Given the description of an element on the screen output the (x, y) to click on. 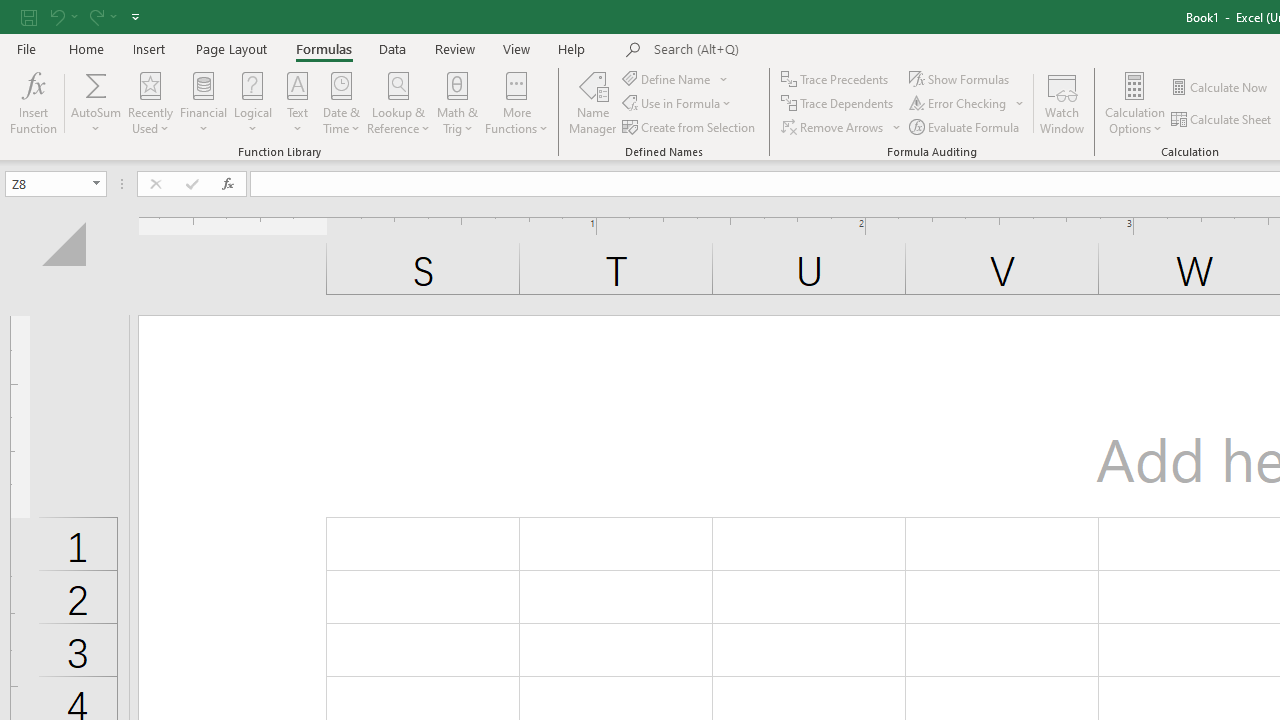
Evaluate Formula (966, 126)
Watch Window (1062, 102)
Define Name... (667, 78)
Remove Arrows (842, 126)
